Given the description of an element on the screen output the (x, y) to click on. 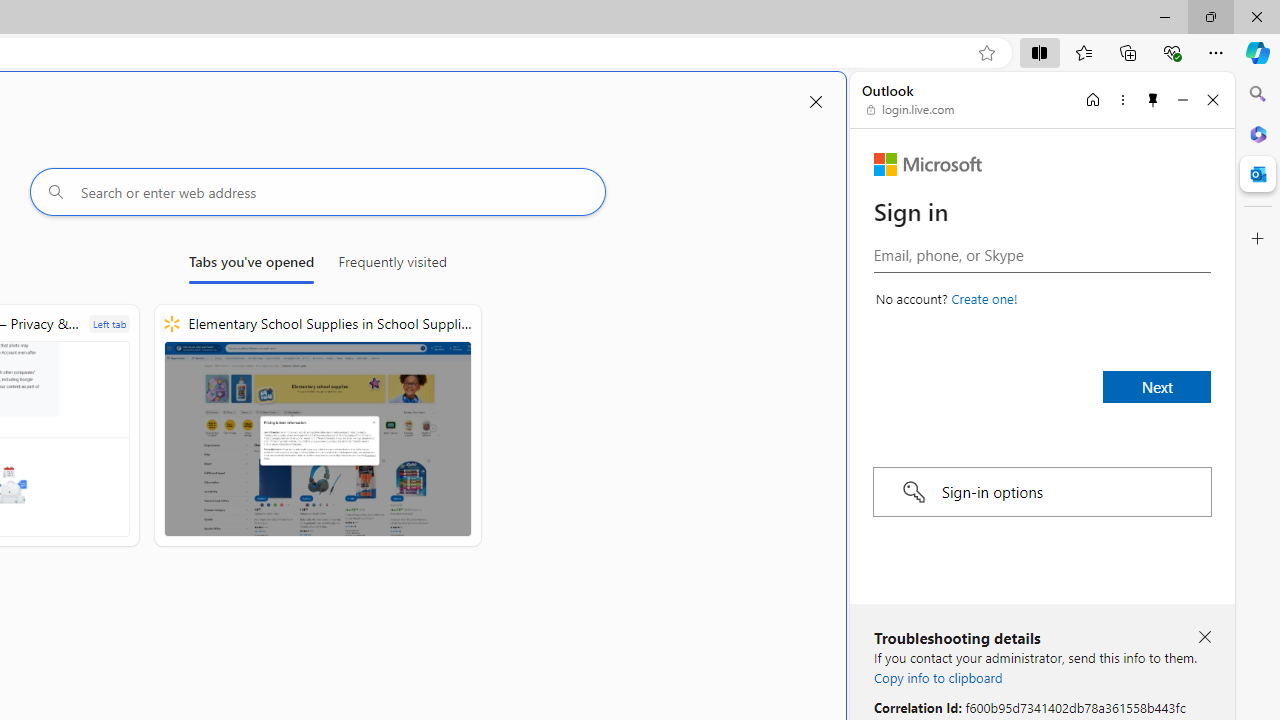
login.live.com (911, 110)
Close Outlook pane (1258, 174)
